Given the description of an element on the screen output the (x, y) to click on. 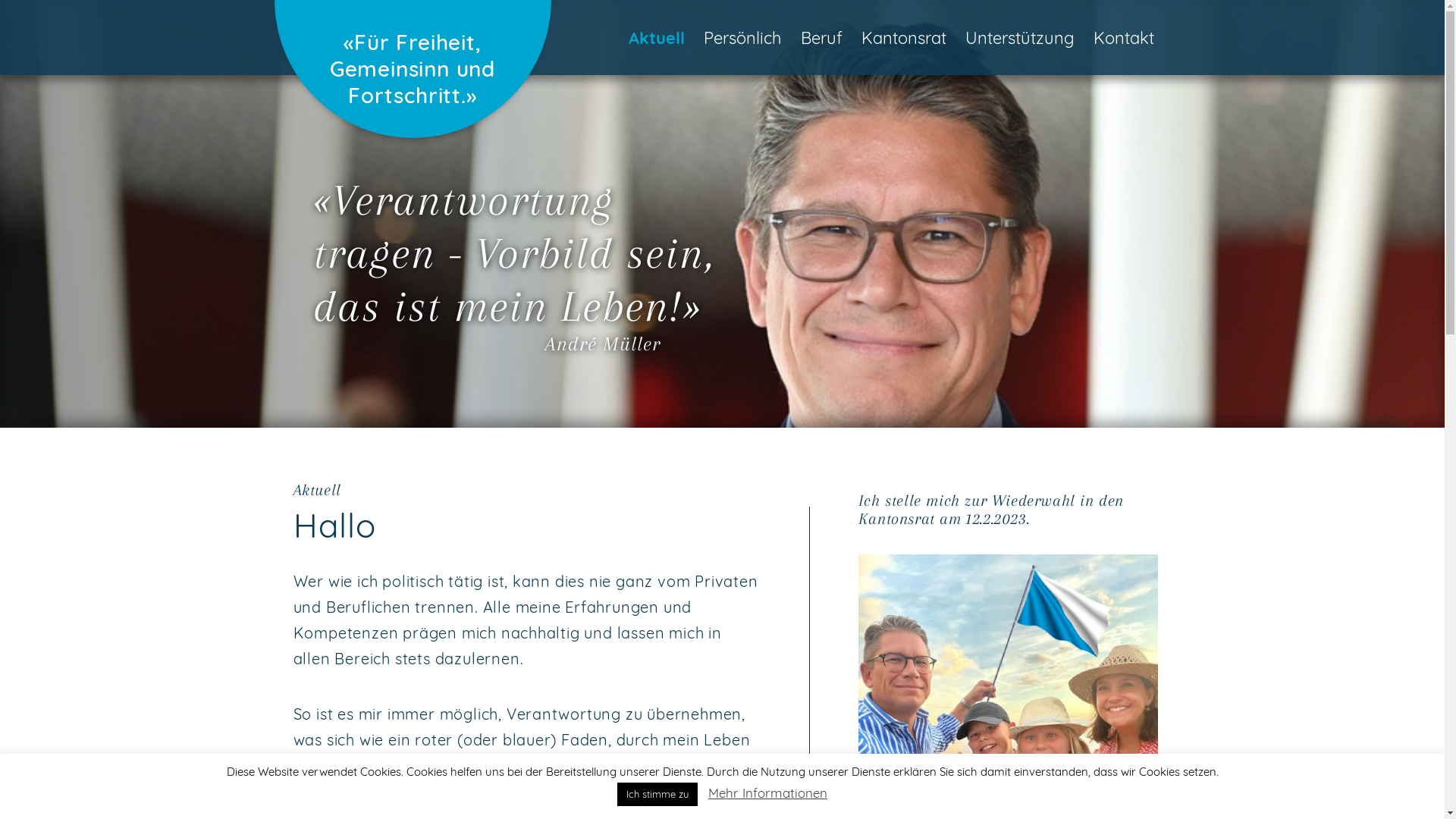
Ich stimme zu Element type: text (657, 794)
Aktuell Element type: text (655, 37)
Beruf Element type: text (821, 37)
Mehr Informationen Element type: text (767, 792)
Kantonsrat Element type: text (903, 37)
Kontakt Element type: text (1123, 37)
